Given the description of an element on the screen output the (x, y) to click on. 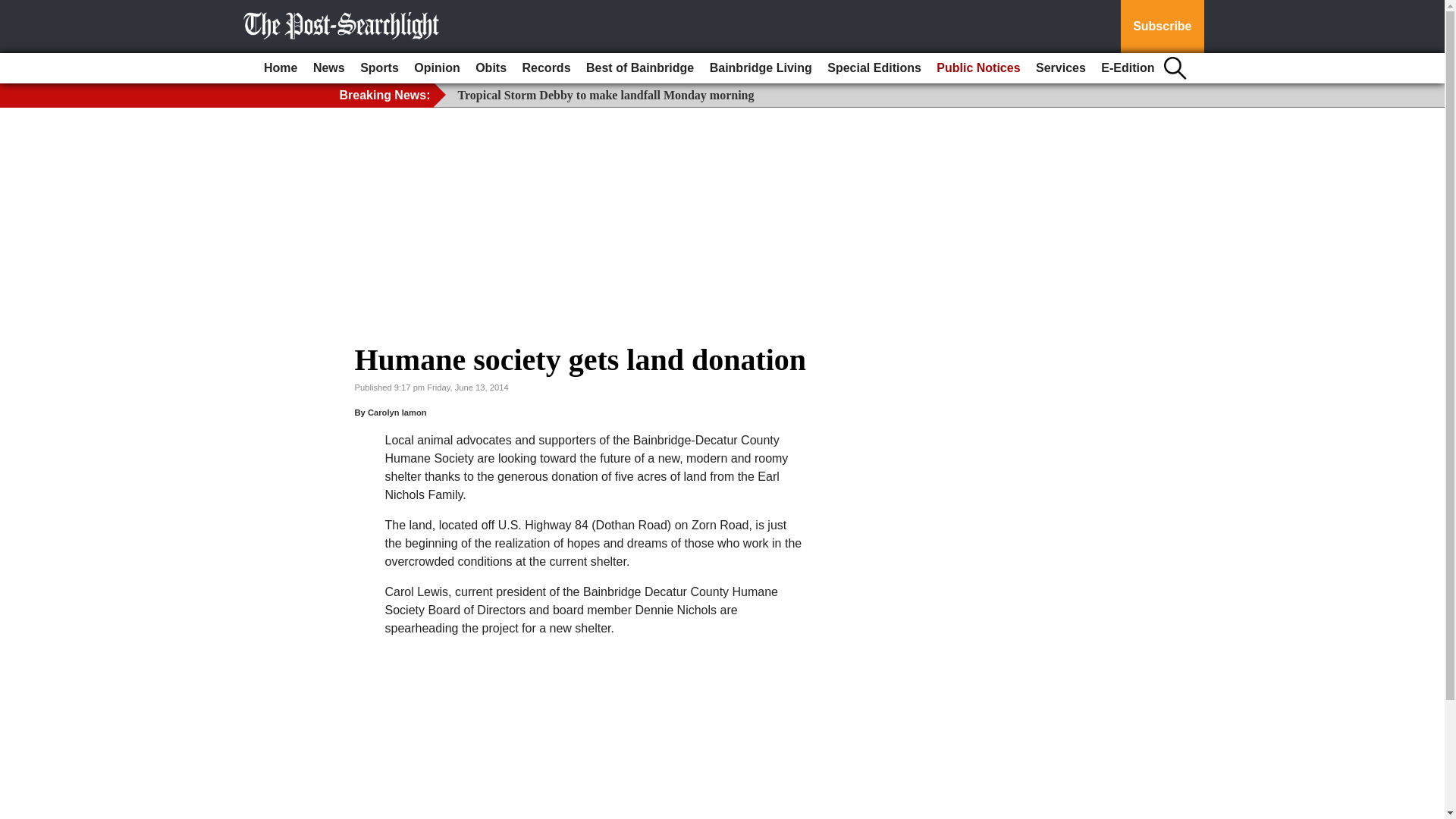
Tropical Storm Debby to make landfall Monday morning (606, 94)
Go (13, 9)
Public Notices (978, 68)
Carolyn Iamon (397, 411)
Home (279, 68)
Records (546, 68)
Opinion (436, 68)
Sports (378, 68)
Services (1060, 68)
Subscribe (1162, 26)
